Given the description of an element on the screen output the (x, y) to click on. 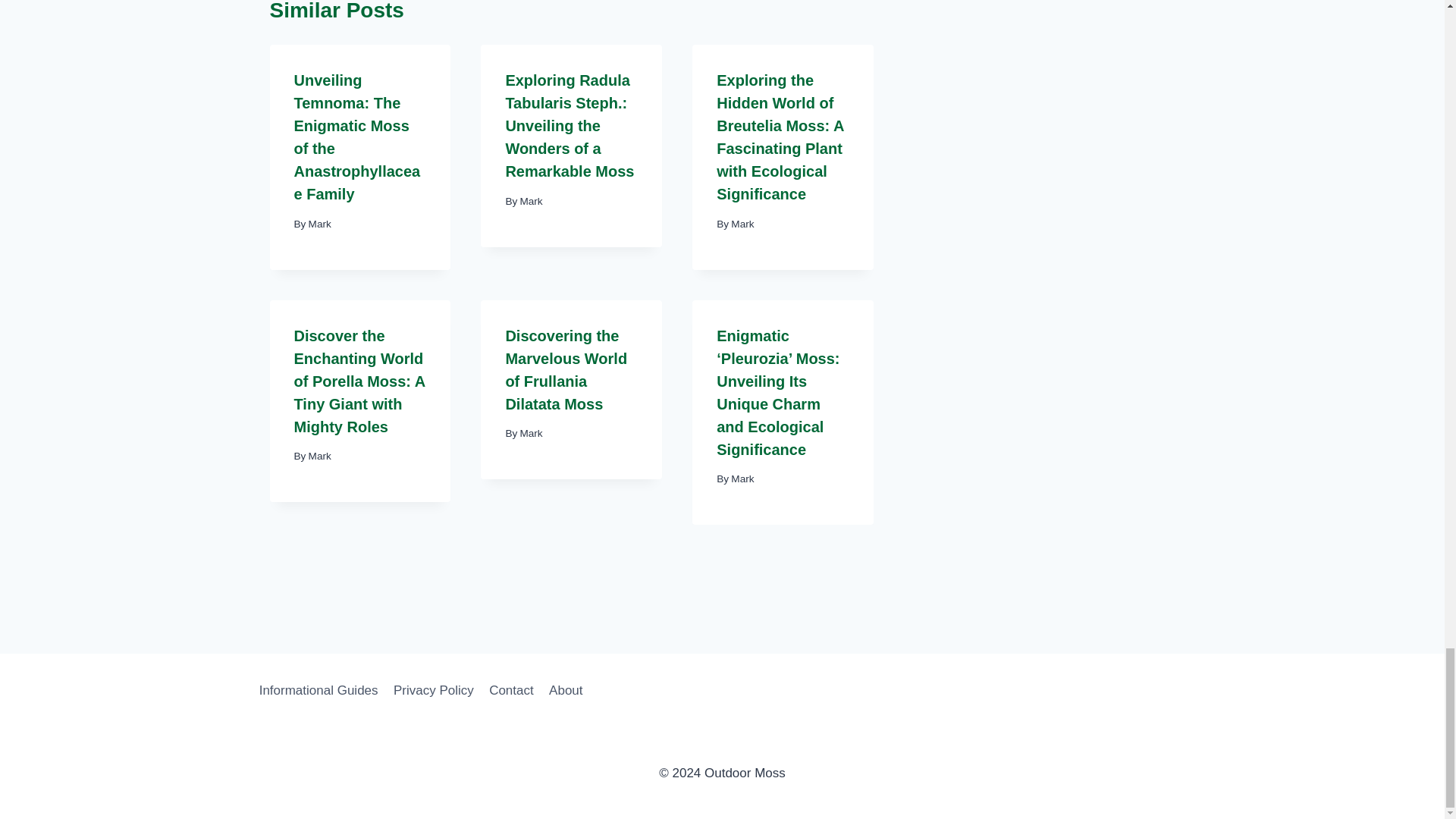
Mark (319, 224)
Mark (530, 201)
